Given the description of an element on the screen output the (x, y) to click on. 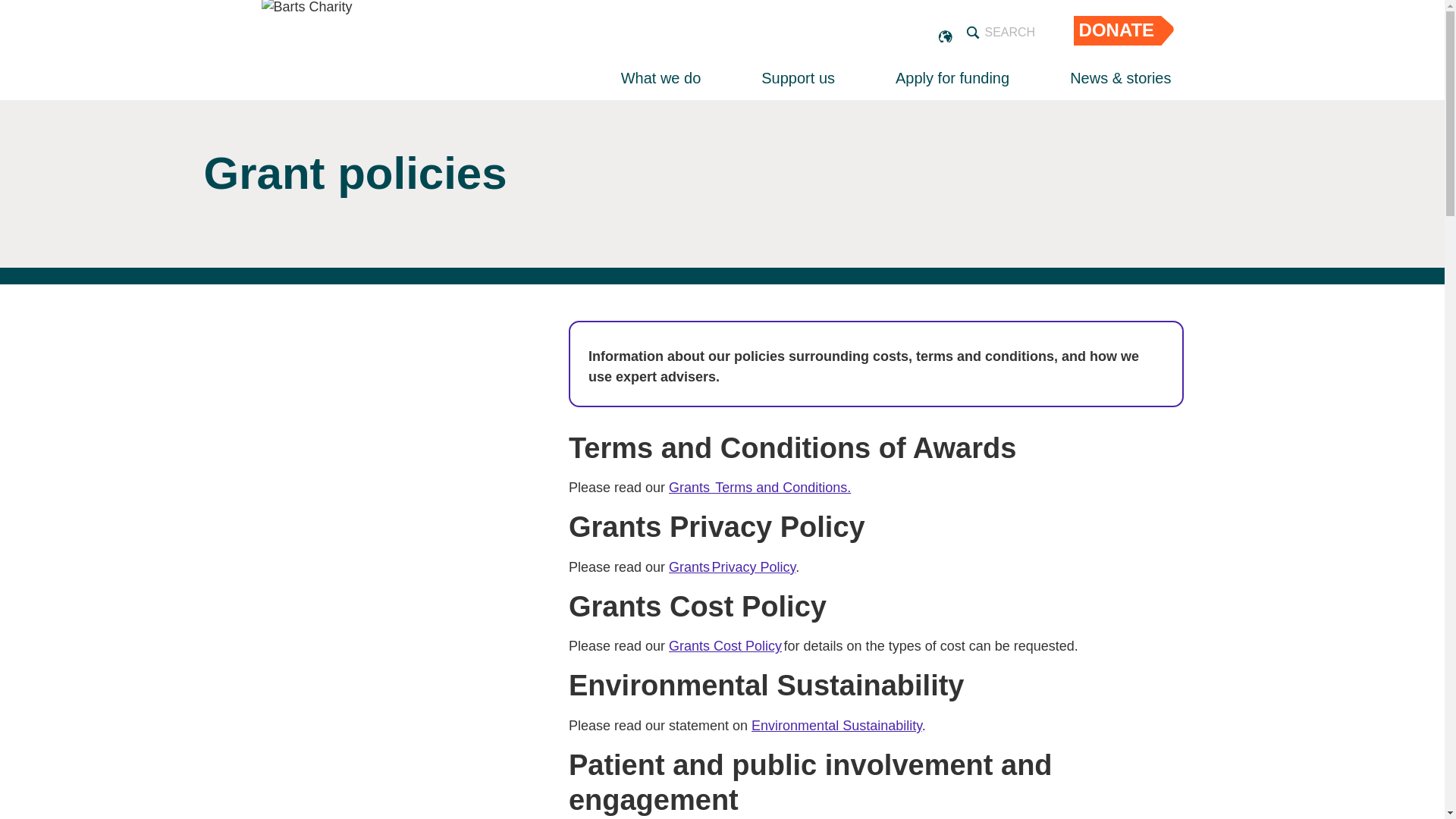
Apply for funding (952, 77)
SEARCH (1002, 32)
DONATE (1116, 30)
Support us (797, 77)
What we do (661, 77)
Barts Charity (306, 43)
